Given the description of an element on the screen output the (x, y) to click on. 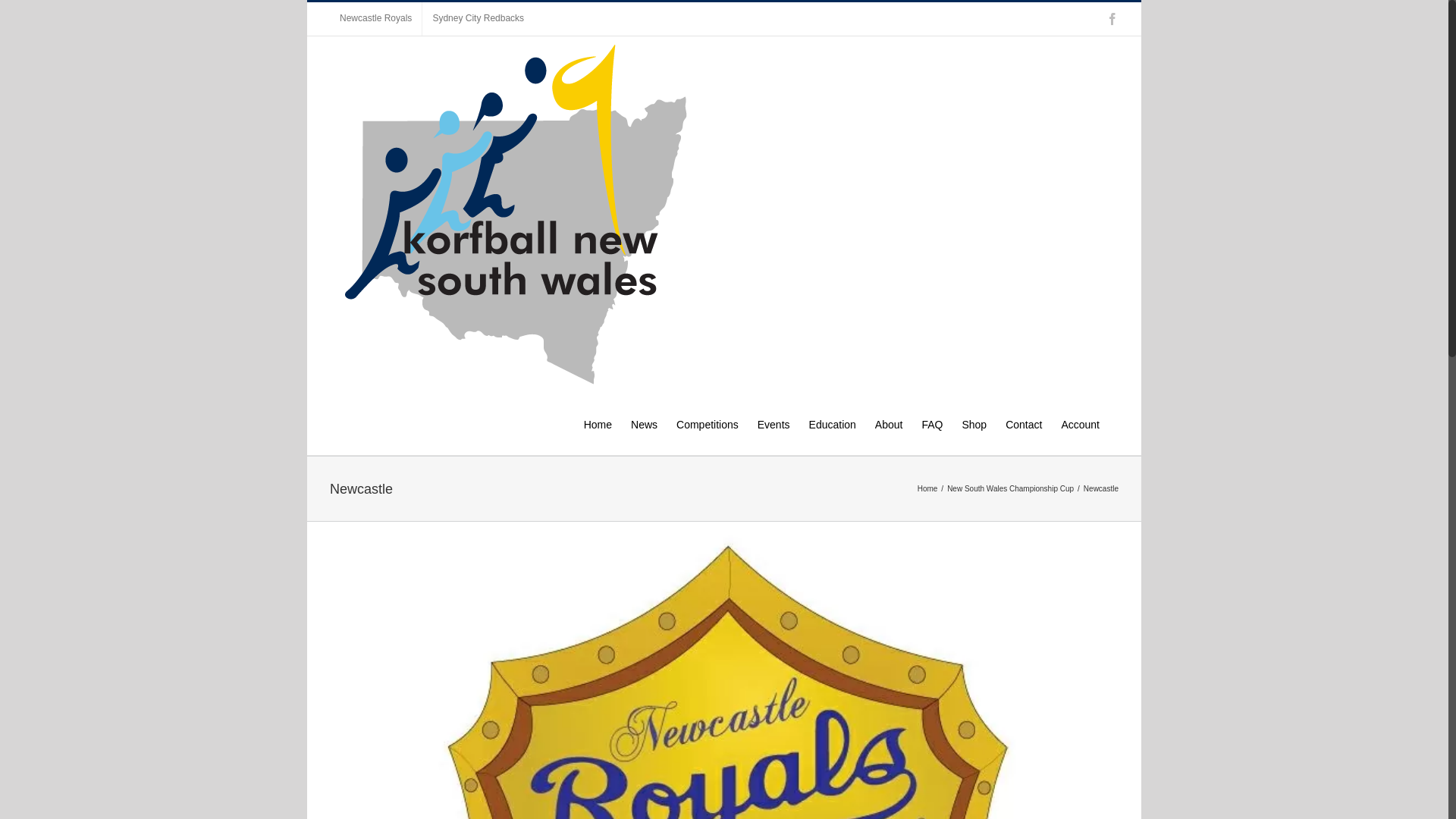
About Element type: text (889, 423)
Home Element type: text (597, 423)
Events Element type: text (773, 423)
Shop Element type: text (973, 423)
Account Element type: text (1079, 423)
Sydney City Redbacks Element type: text (477, 18)
Contact Element type: text (1023, 423)
FAQ Element type: text (931, 423)
News Element type: text (643, 423)
Newcastle Royals Element type: text (375, 18)
Home Element type: text (927, 488)
New South Wales Championship Cup Element type: text (1010, 488)
Competitions Element type: text (707, 423)
Education Element type: text (832, 423)
Facebook Element type: text (1112, 18)
